Given the description of an element on the screen output the (x, y) to click on. 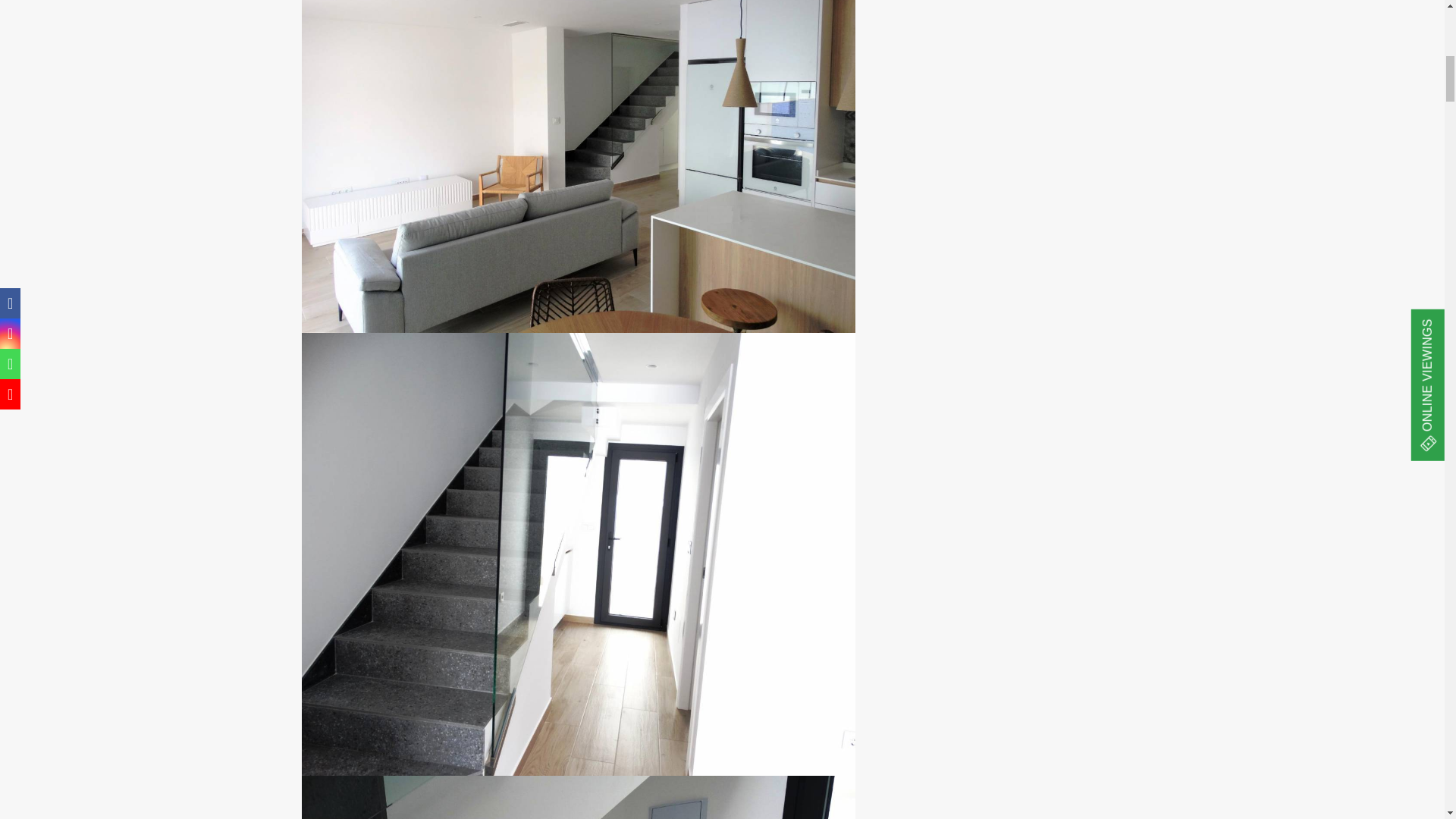
New Build - Villa - San Javier - Santiago de la Ribera (578, 797)
